Given the description of an element on the screen output the (x, y) to click on. 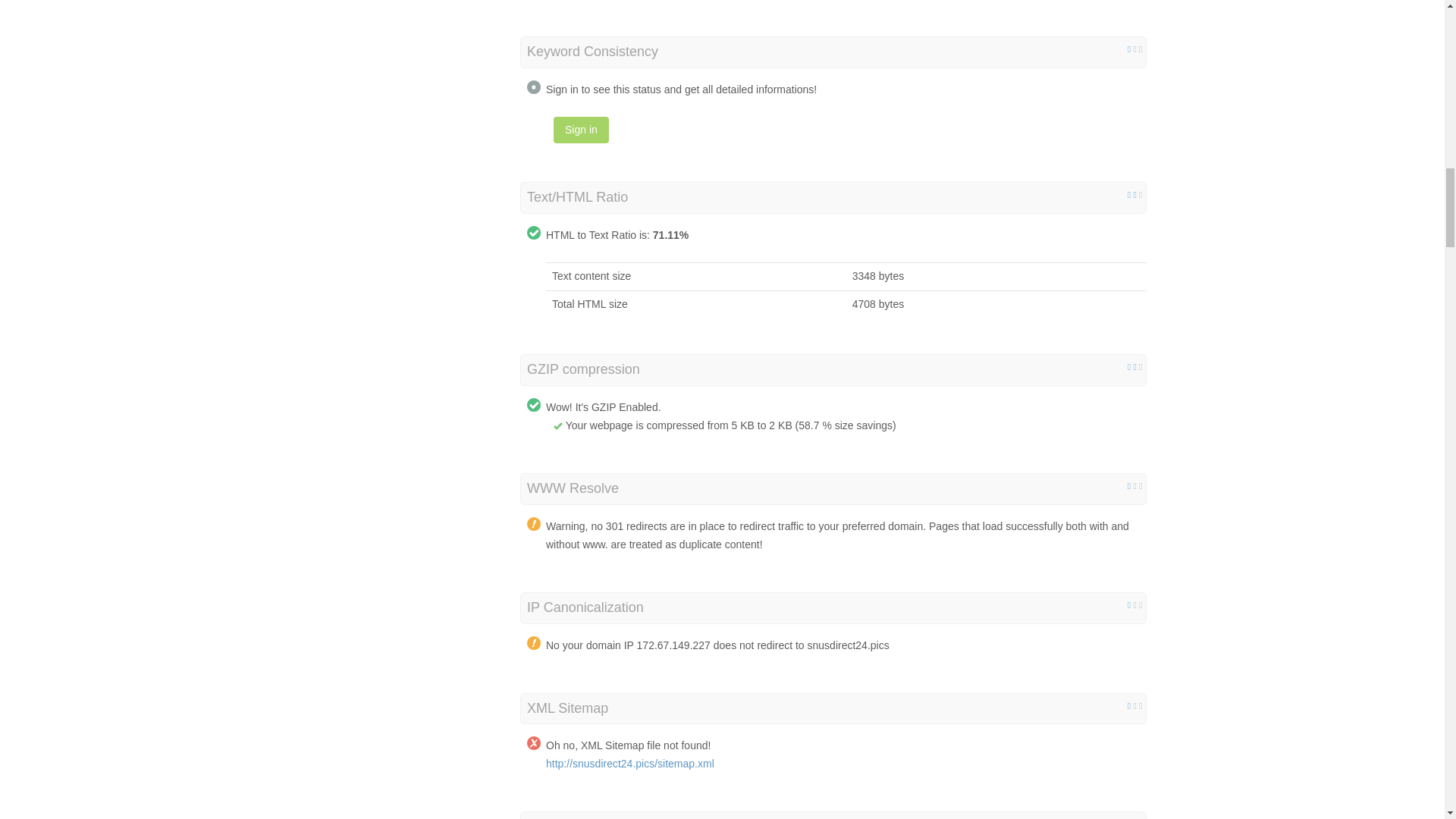
XML Sitemap Link (630, 763)
Sign in (580, 130)
